Given the description of an element on the screen output the (x, y) to click on. 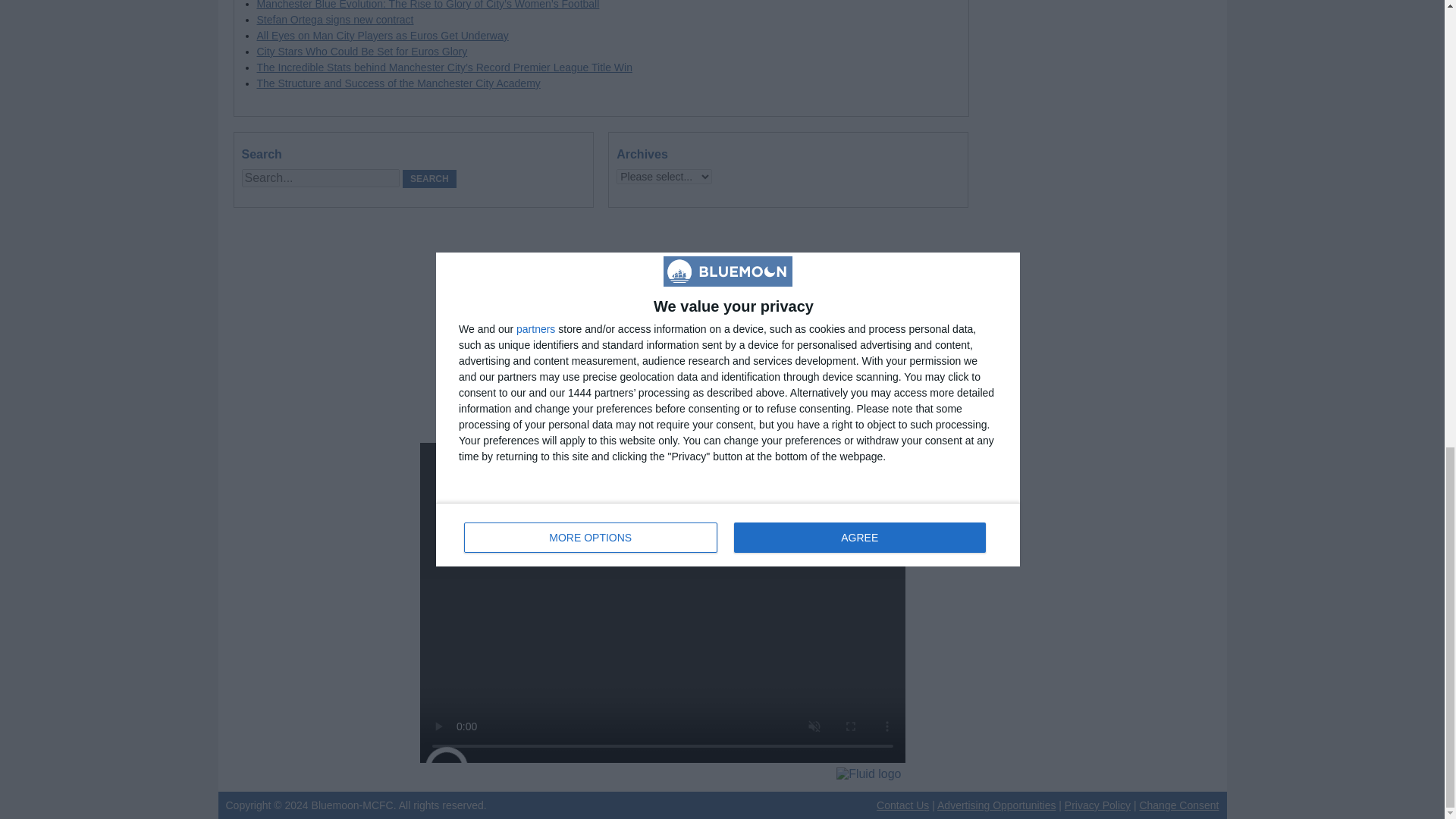
SEARCH (430, 178)
